Given the description of an element on the screen output the (x, y) to click on. 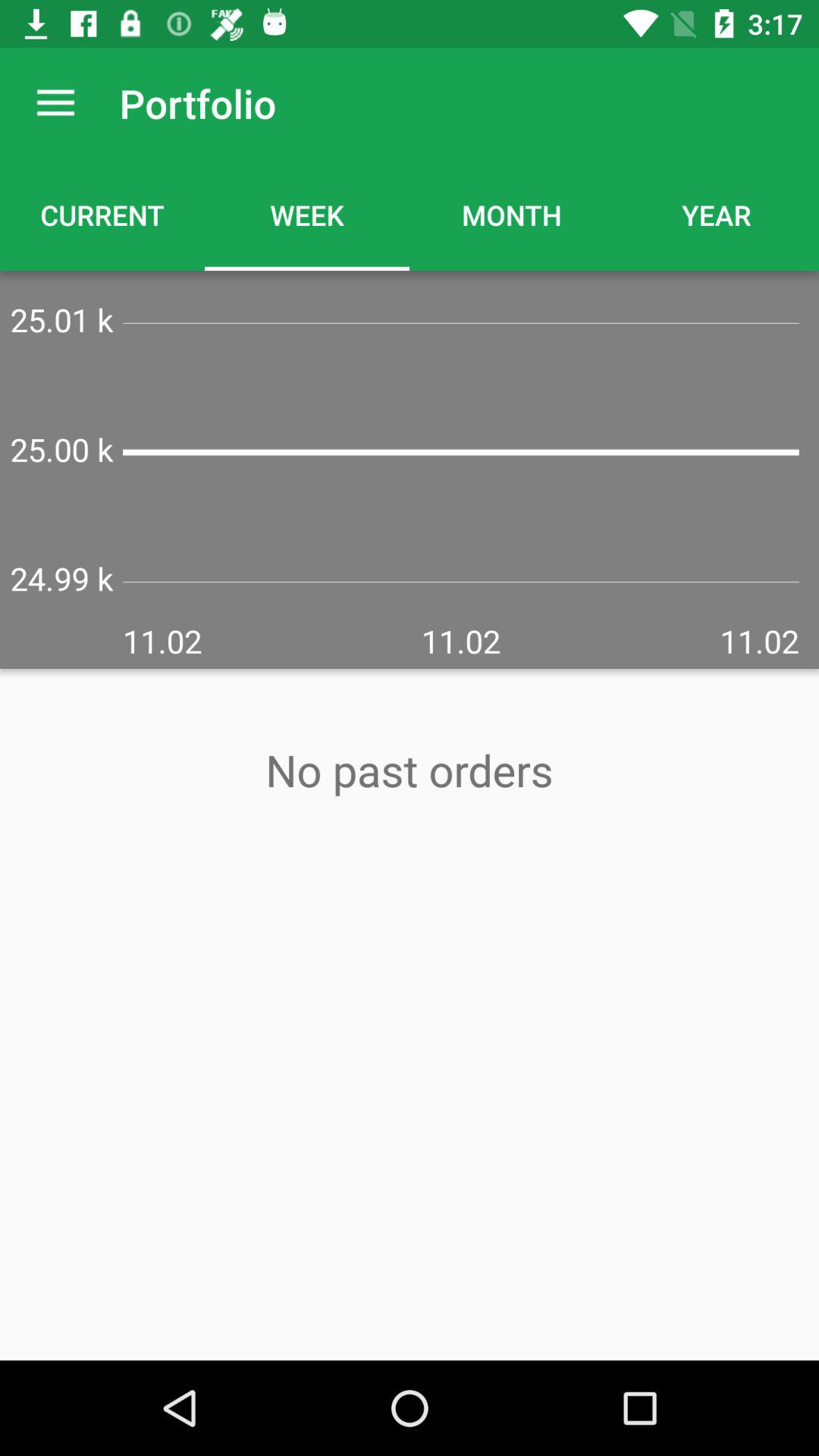
turn on icon next to portfolio item (55, 103)
